Given the description of an element on the screen output the (x, y) to click on. 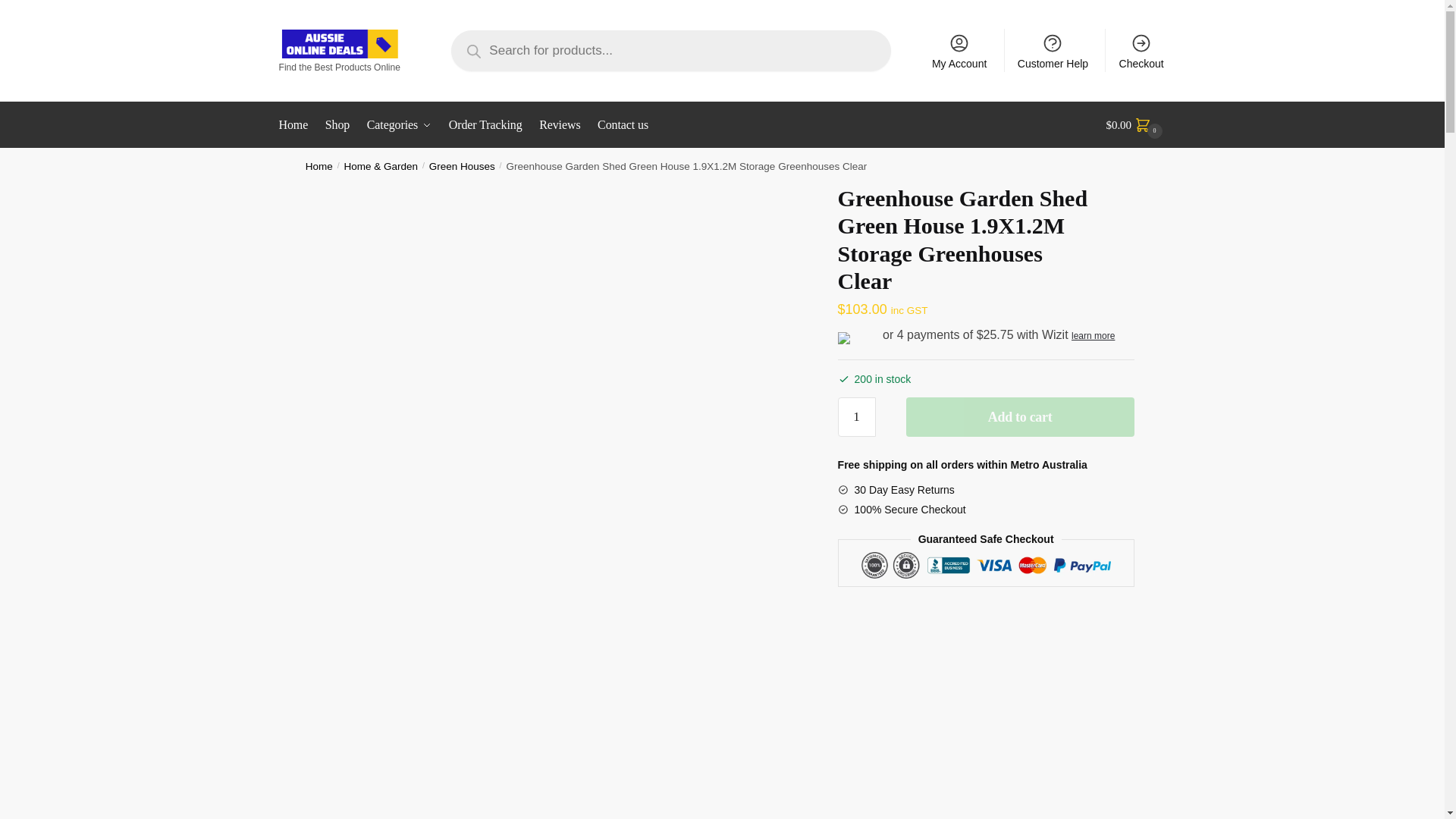
Customer Help (1053, 50)
View your shopping cart (1136, 125)
Reviews (559, 125)
Home (319, 165)
Order Tracking (485, 125)
Add to cart (1019, 416)
learn more (1093, 335)
Contact us (623, 125)
Categories (398, 125)
My Account (959, 50)
1 (857, 416)
Checkout (1141, 50)
Green Houses (462, 165)
